Given the description of an element on the screen output the (x, y) to click on. 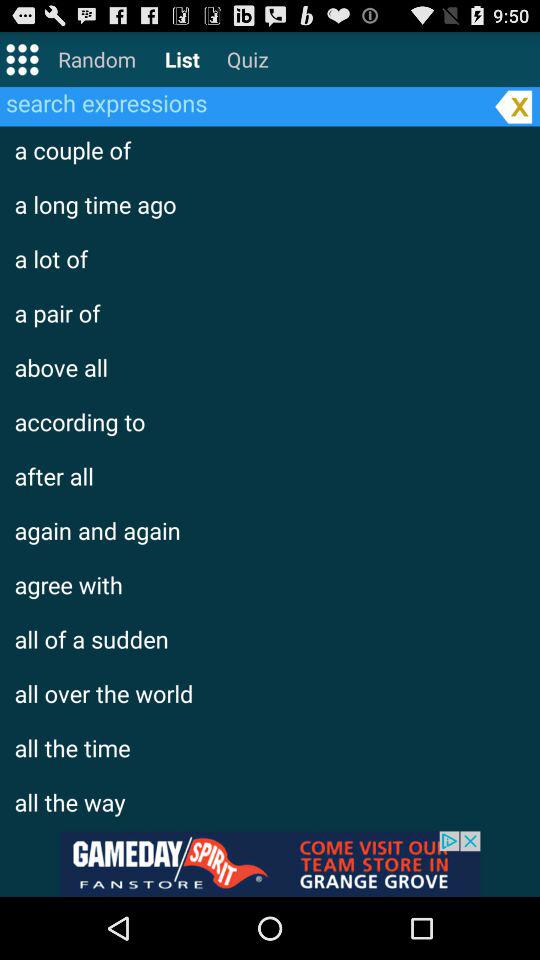
setting the page row (22, 58)
